Given the description of an element on the screen output the (x, y) to click on. 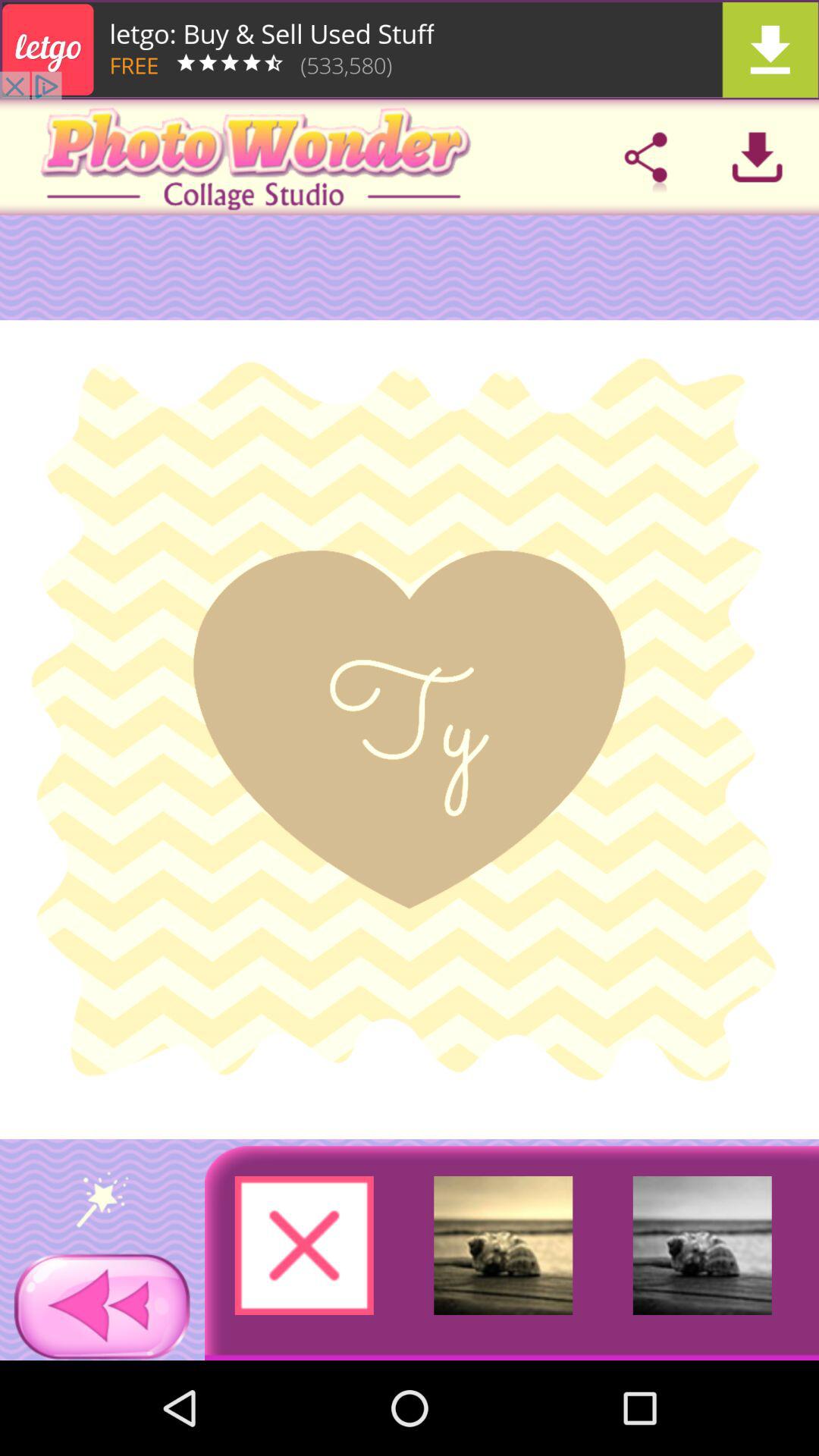
share the image (645, 157)
